Given the description of an element on the screen output the (x, y) to click on. 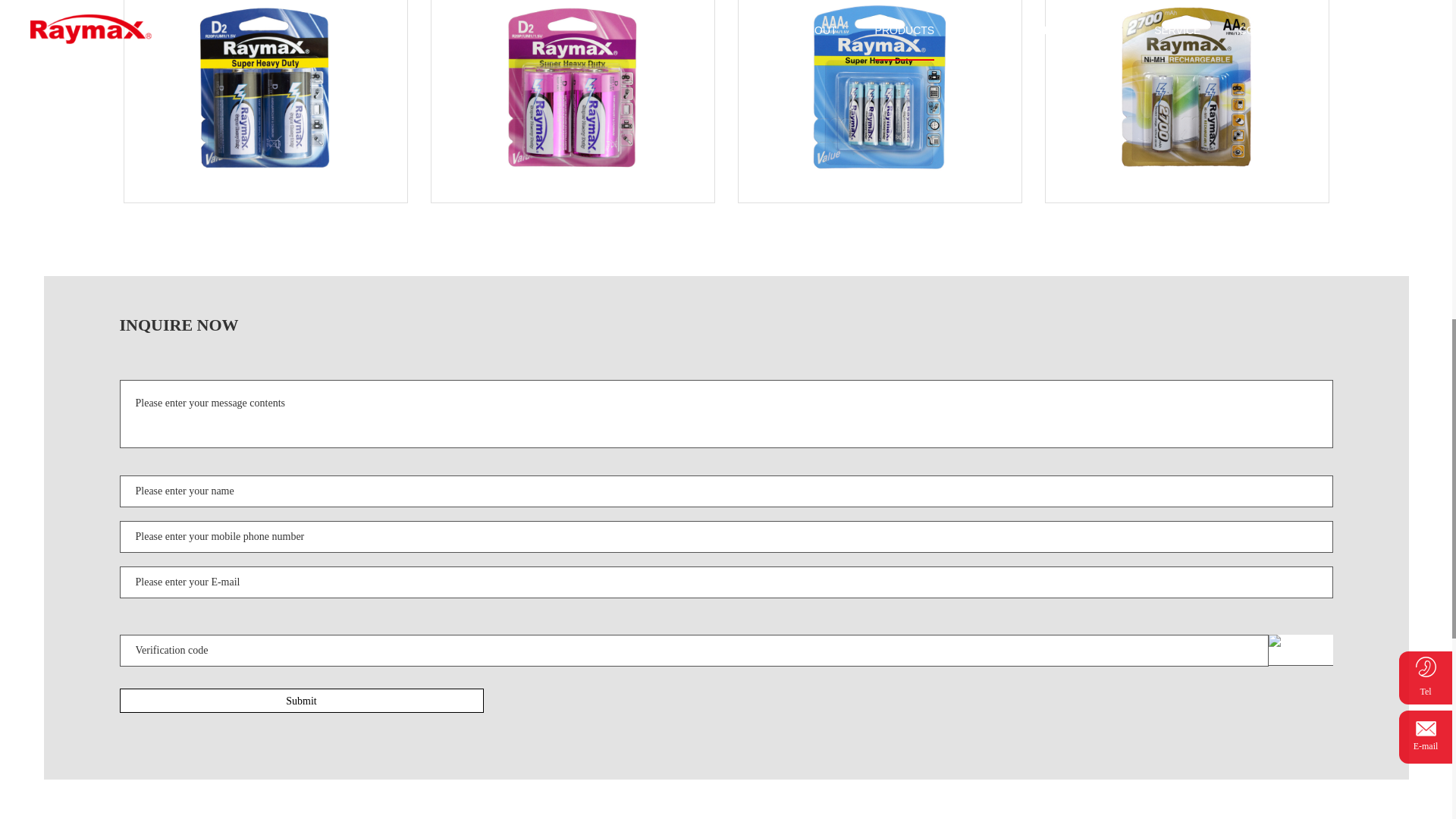
PVC Jacket R03 AAA (879, 93)
Metal Jacket D R20 (264, 93)
HR6 2700mAh (1186, 93)
Aluminium Jacket D R20 (572, 93)
